Given the description of an element on the screen output the (x, y) to click on. 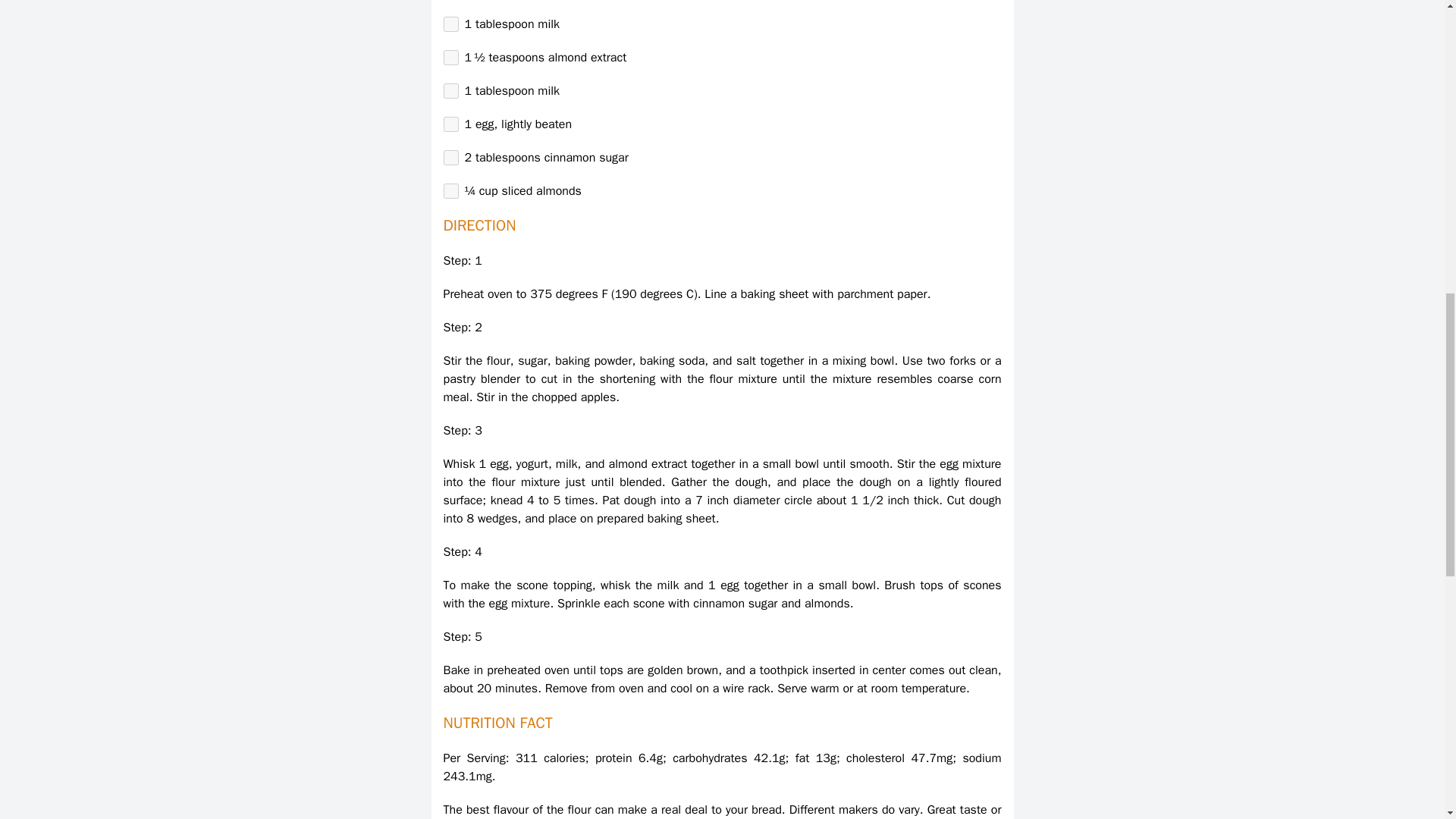
on (450, 157)
on (450, 23)
on (450, 57)
on (450, 191)
on (450, 90)
on (450, 124)
